Given the description of an element on the screen output the (x, y) to click on. 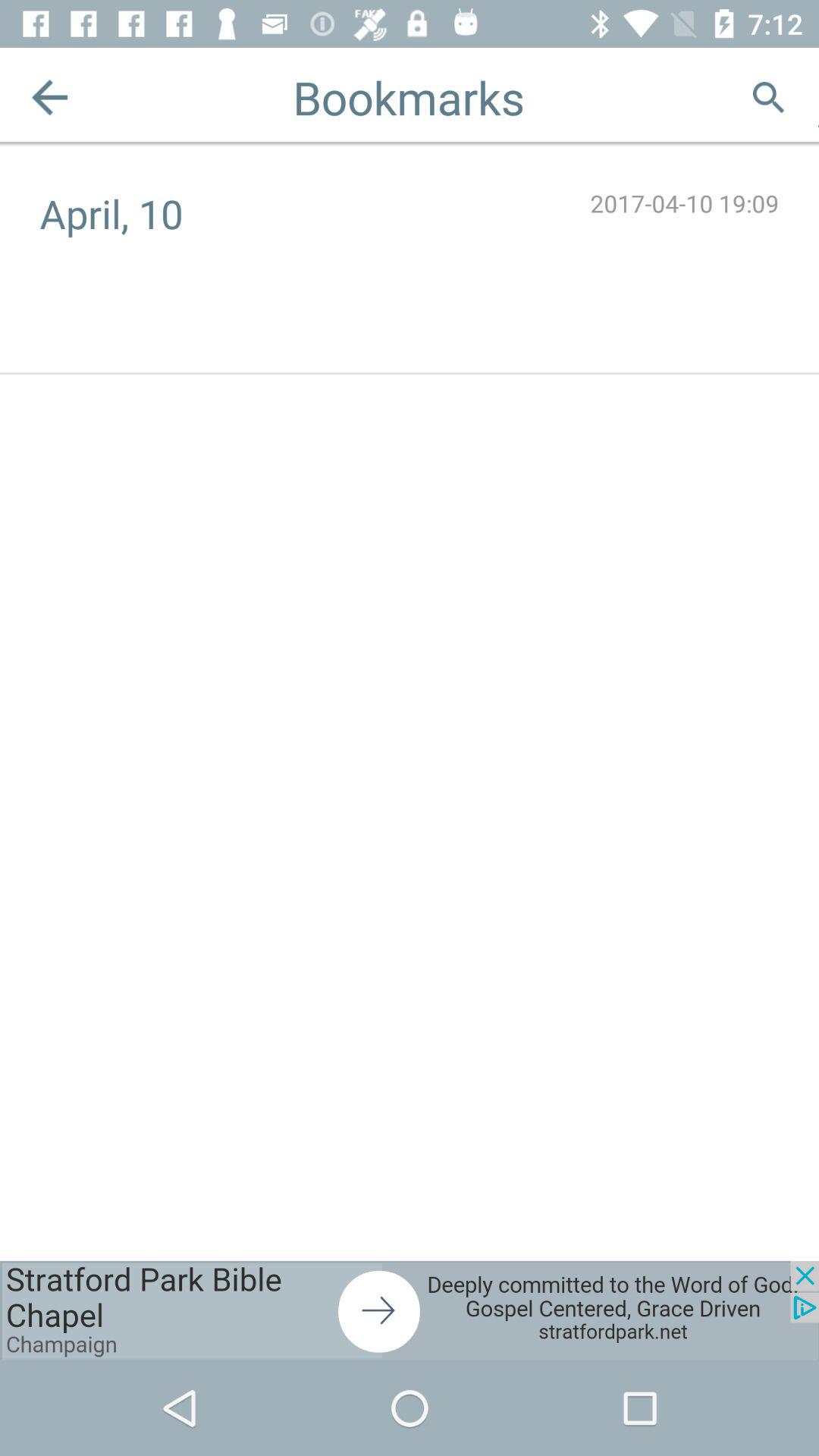
blank page (818, 97)
